Given the description of an element on the screen output the (x, y) to click on. 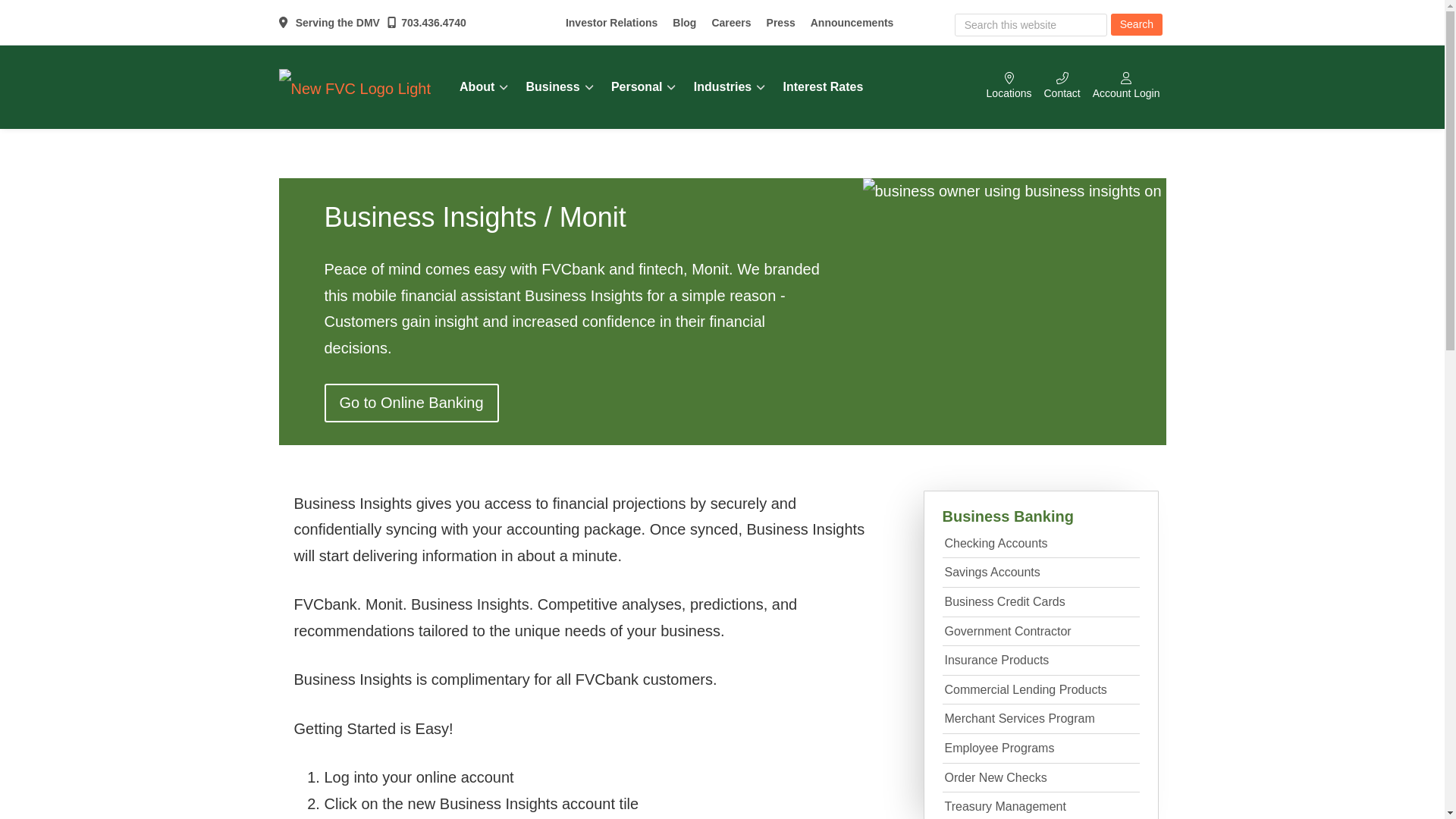
Press (780, 22)
Search (1135, 24)
Personal (646, 86)
Business (562, 86)
Search (1135, 24)
Careers (731, 22)
Blog (683, 22)
Investor Relations (612, 22)
Announcements (851, 22)
